Given the description of an element on the screen output the (x, y) to click on. 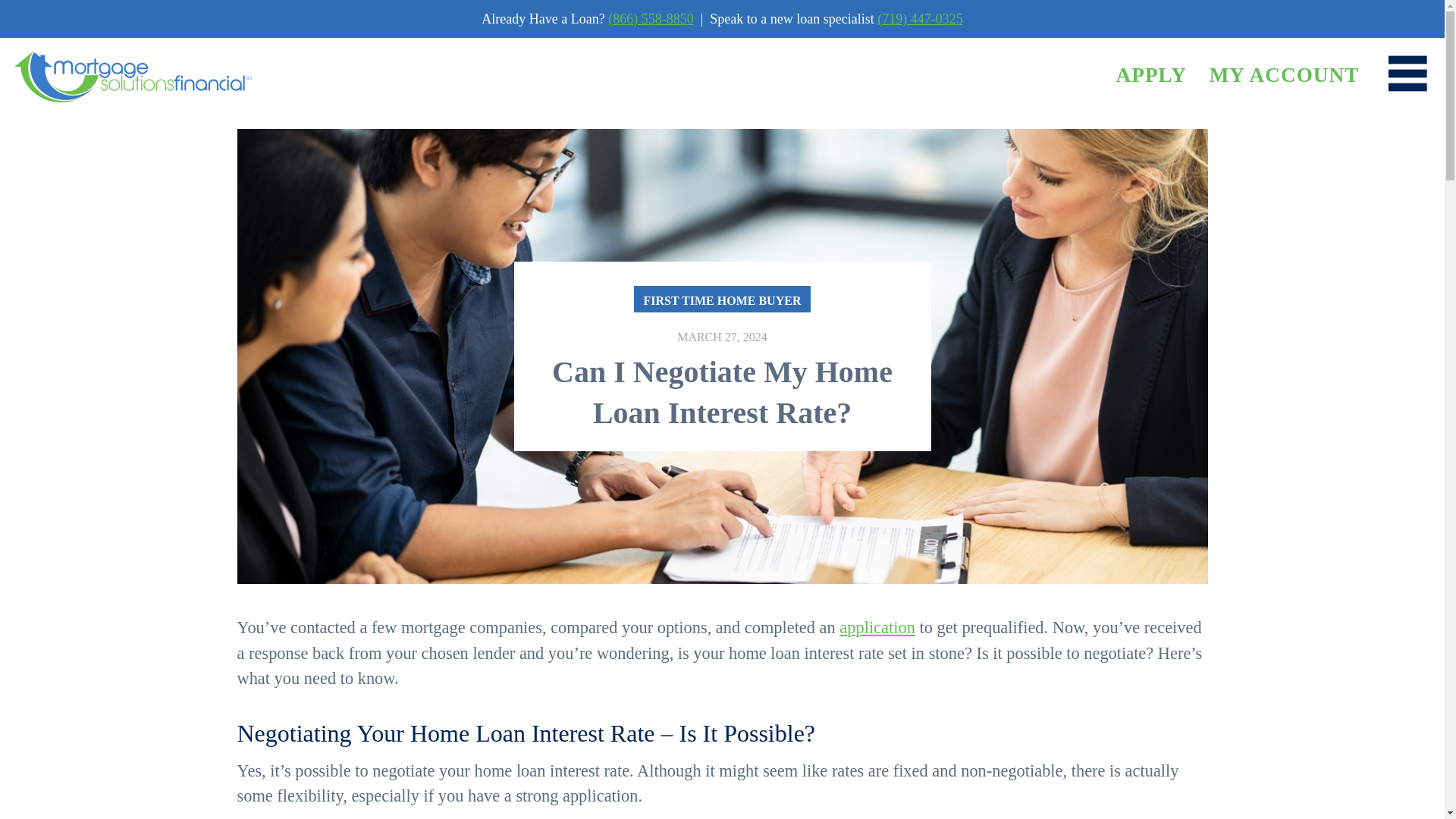
MY ACCOUNT (1284, 74)
Login to My Account! (1284, 74)
FIRST TIME HOME BUYER (721, 298)
Apply for a Loan Today! Find out how. (1150, 74)
APPLY (1150, 74)
application (877, 627)
